Given the description of an element on the screen output the (x, y) to click on. 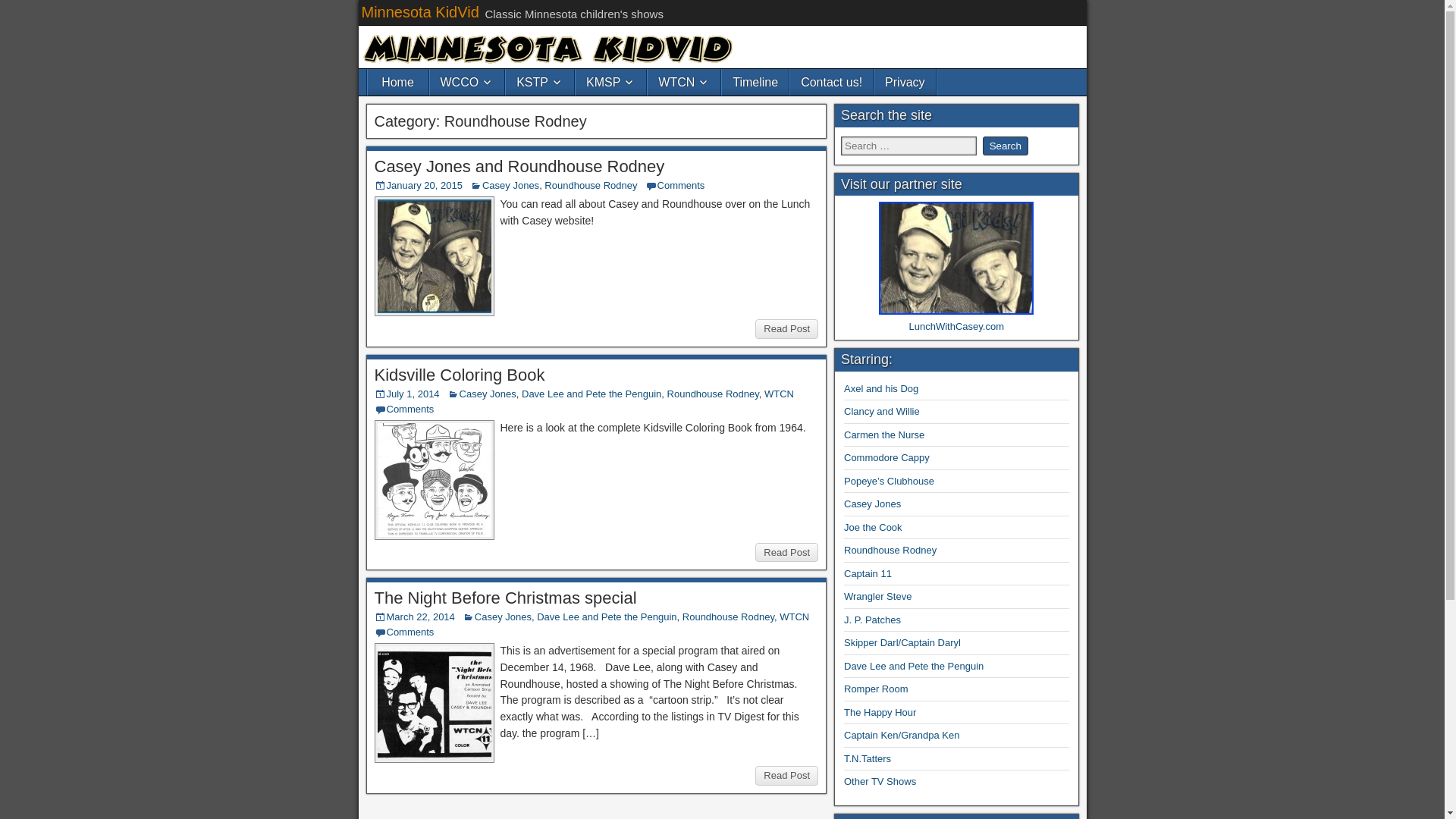
Kidsville Coloring Book (459, 374)
WTCN (683, 81)
Casey Jones (509, 184)
Privacy (904, 81)
Minnesota KidVid (420, 12)
January 20, 2015 (425, 184)
Read Post (786, 329)
KSTP (539, 81)
WCCO (466, 81)
Roundhouse Rodney (590, 184)
